Given the description of an element on the screen output the (x, y) to click on. 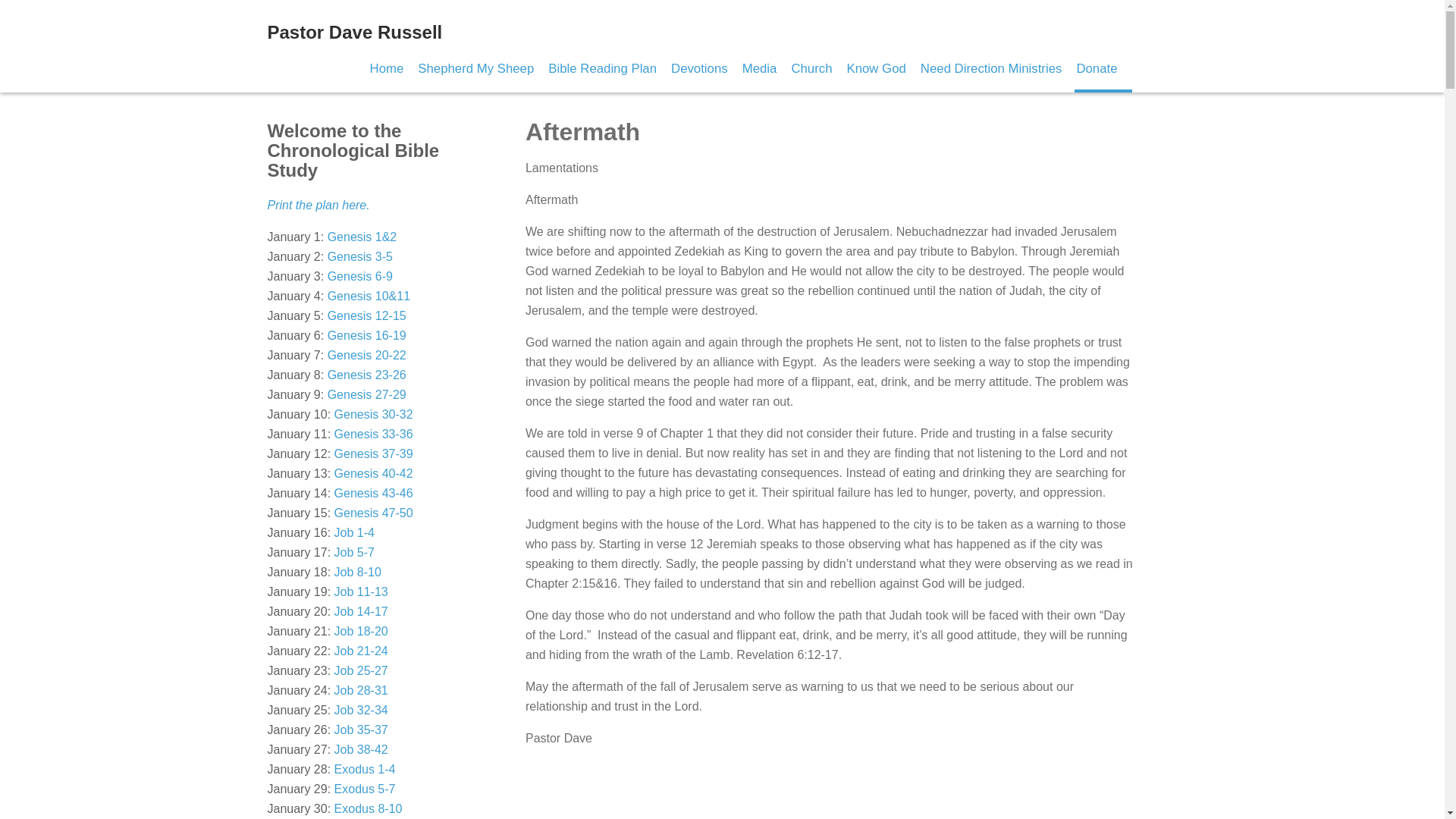
Shepherd My Sheep (475, 68)
Job 18-20 (361, 631)
Bible Reading Plan (602, 68)
Genesis 12-15 (366, 315)
Job 21-24 (361, 650)
Genesis 23-26 (366, 374)
Between the Rock and the Hard Place (371, 433)
Wisdom or Weeds? (361, 670)
Job 8-10 (357, 571)
Genesis 6-9 The Flood (360, 276)
Job 11-13 (361, 591)
Job 25-27 (361, 670)
Job 5-7 (354, 552)
Need Direction Ministries (991, 68)
Know God (875, 68)
